Given the description of an element on the screen output the (x, y) to click on. 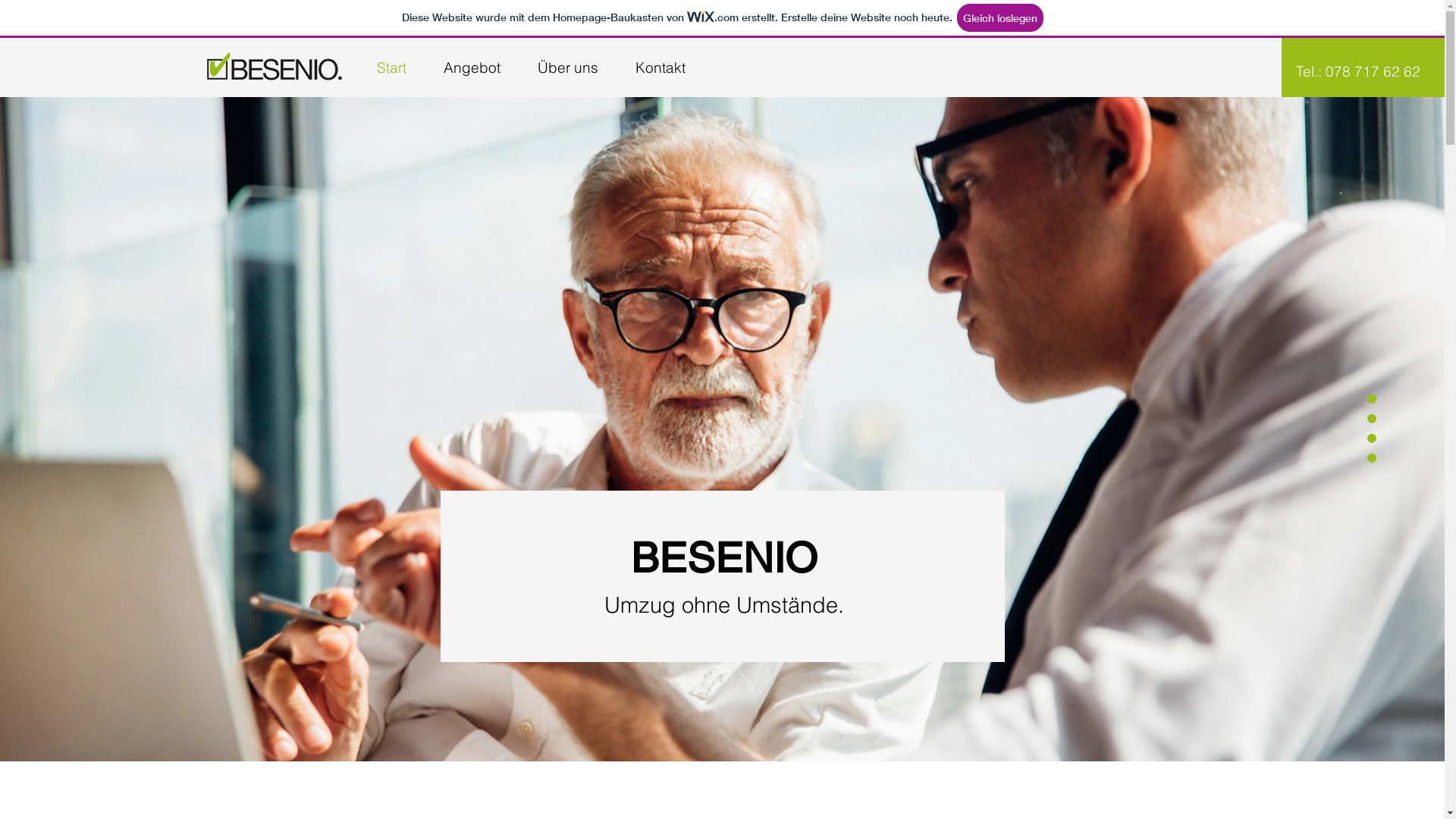
Kontakt Element type: text (660, 67)
Start Element type: text (390, 67)
Angebot Element type: text (471, 67)
